Given the description of an element on the screen output the (x, y) to click on. 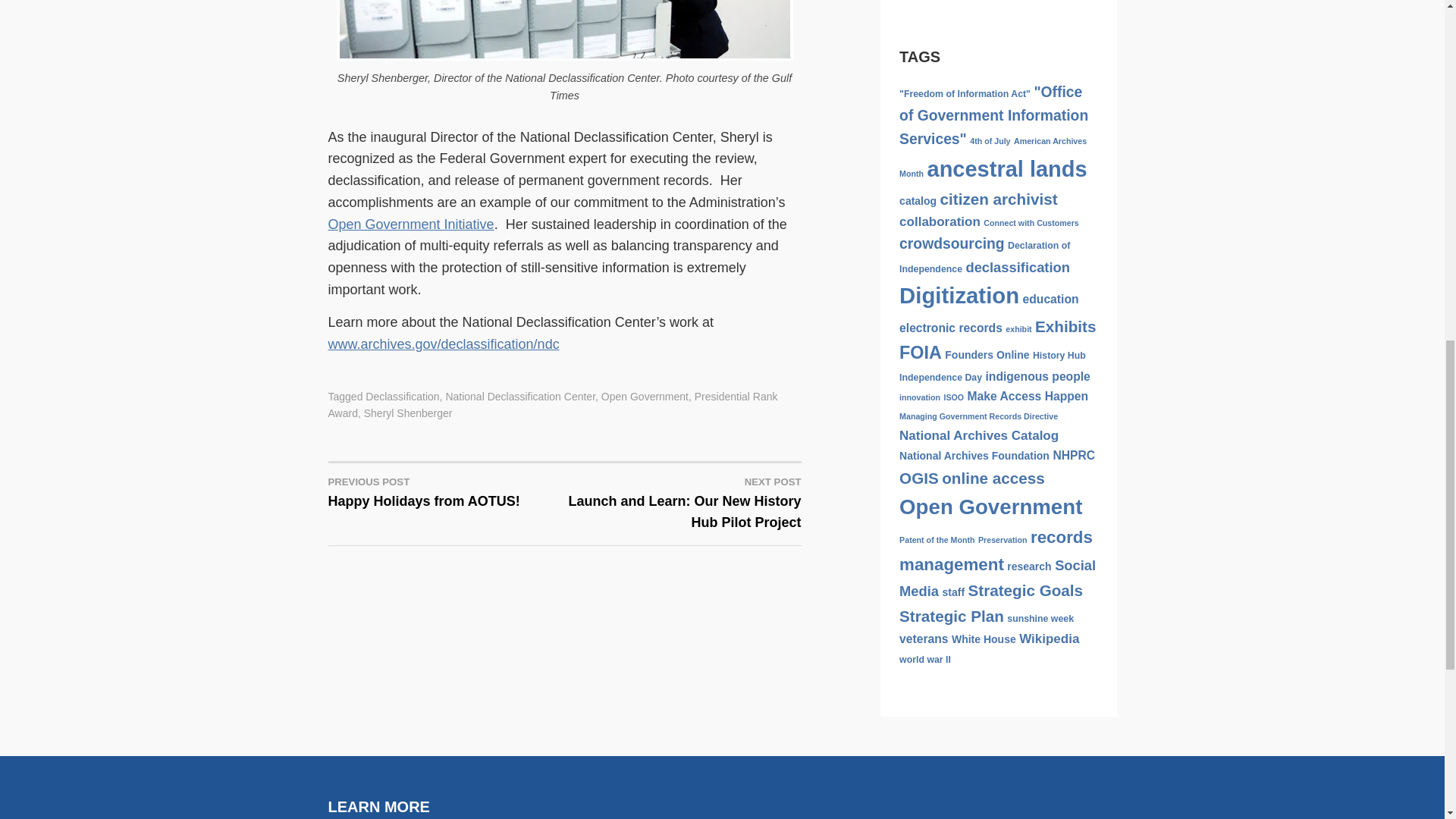
collaboration (939, 221)
citizen archivist (999, 199)
Open Government (644, 396)
American Archives Month (992, 157)
crowdsourcing (445, 490)
ancestral lands (951, 243)
4th of July (1007, 168)
Declaration of Independence (989, 140)
"Freedom of Information Act" (984, 257)
National Declassification Center (964, 93)
"Office of Government Information Services" (520, 396)
Connect with Customers (993, 115)
Presidential Rank Award (1031, 222)
